Given the description of an element on the screen output the (x, y) to click on. 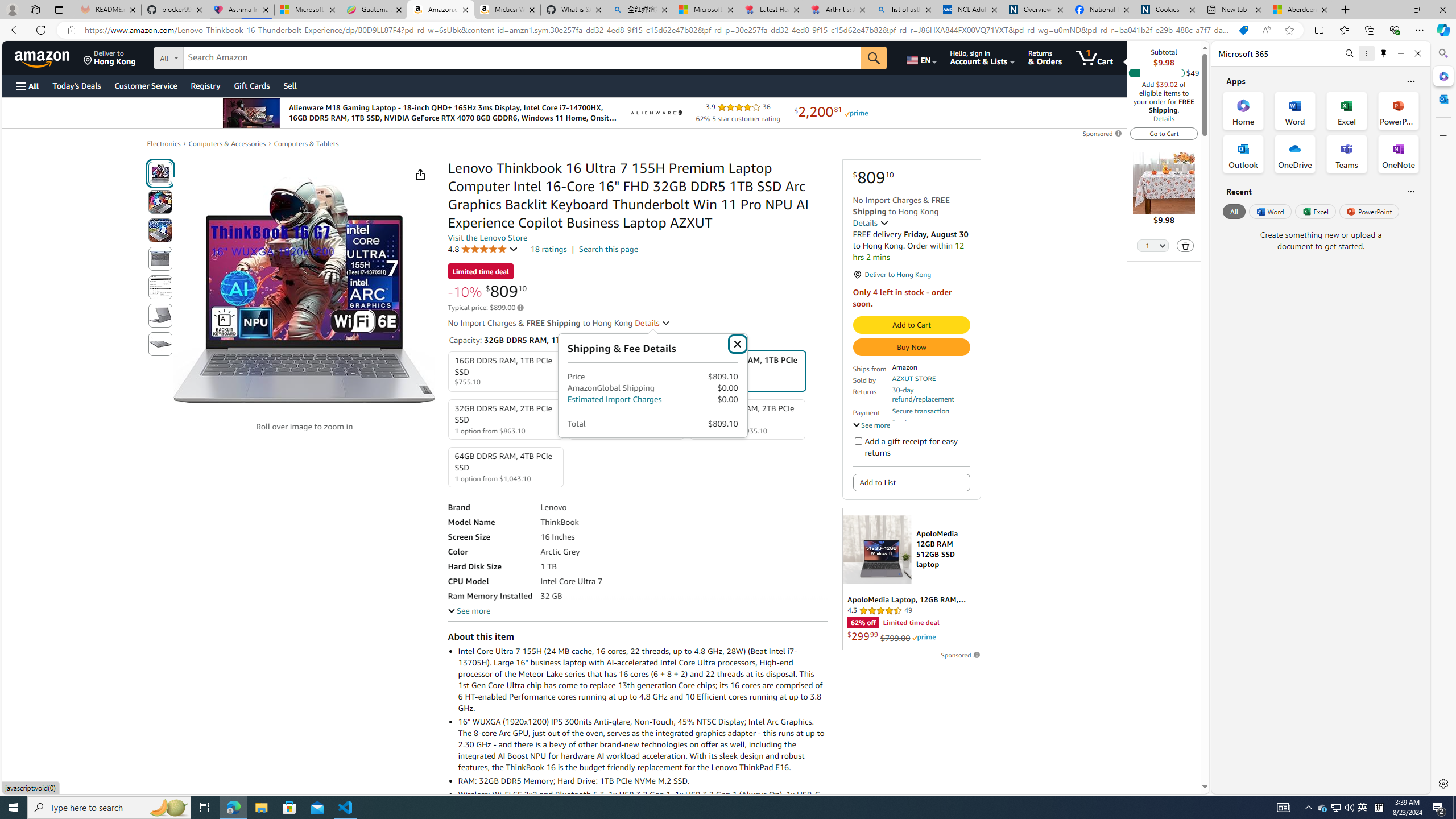
64GB DDR5 RAM, 4TB PCIe SSD 1 option from $1,043.10 (505, 466)
Returns & Orders (1045, 57)
Amazon (43, 57)
Home Office App (1243, 110)
Computers & Accessories (226, 144)
